Given the description of an element on the screen output the (x, y) to click on. 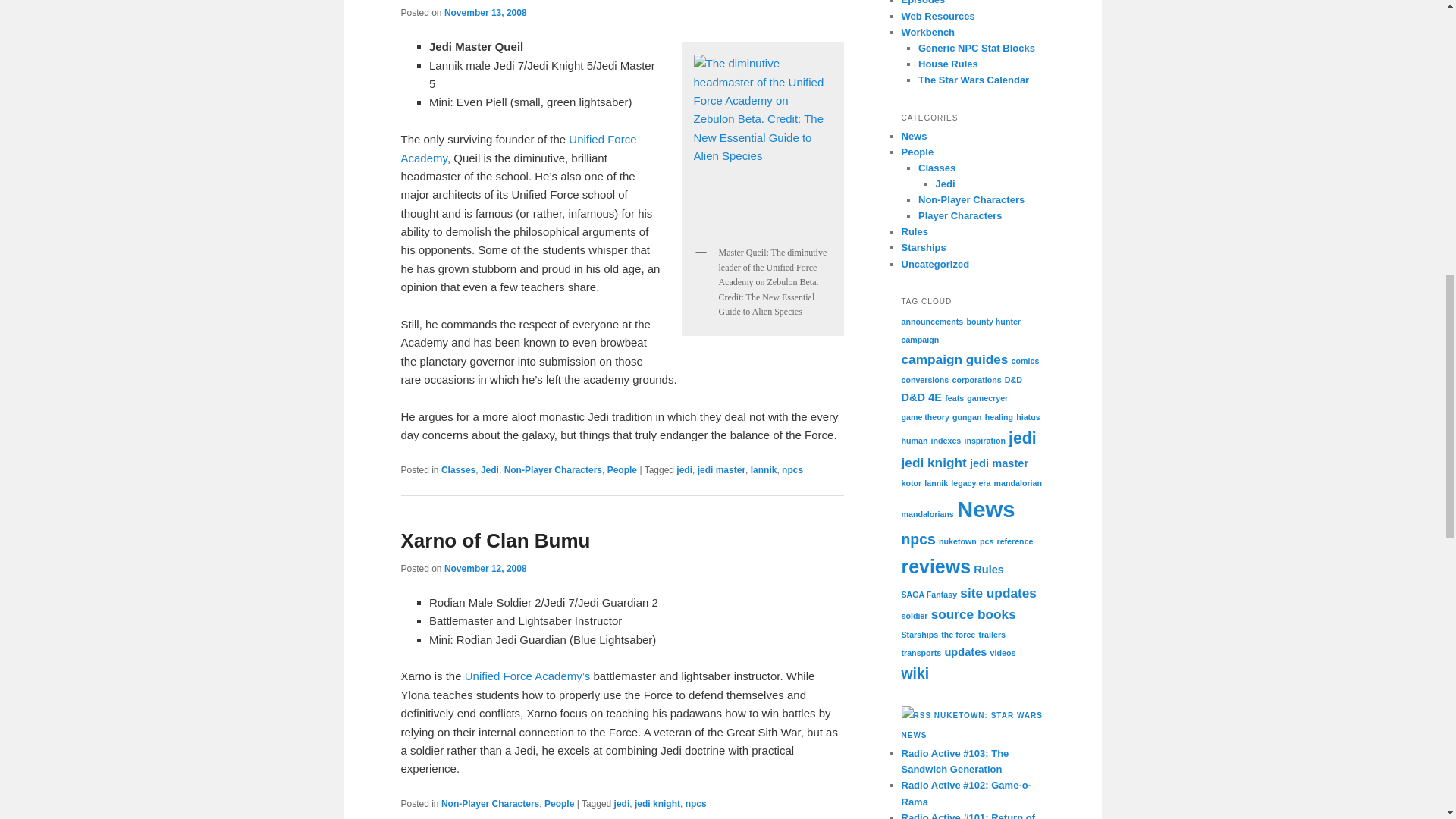
November 13, 2008 (485, 12)
11:28 am (485, 567)
People (622, 470)
11:00 am (485, 12)
Classes (458, 470)
Jedi (489, 470)
jedi (685, 470)
Non-Player Characters (552, 470)
Unified Force Academy (518, 147)
